Given the description of an element on the screen output the (x, y) to click on. 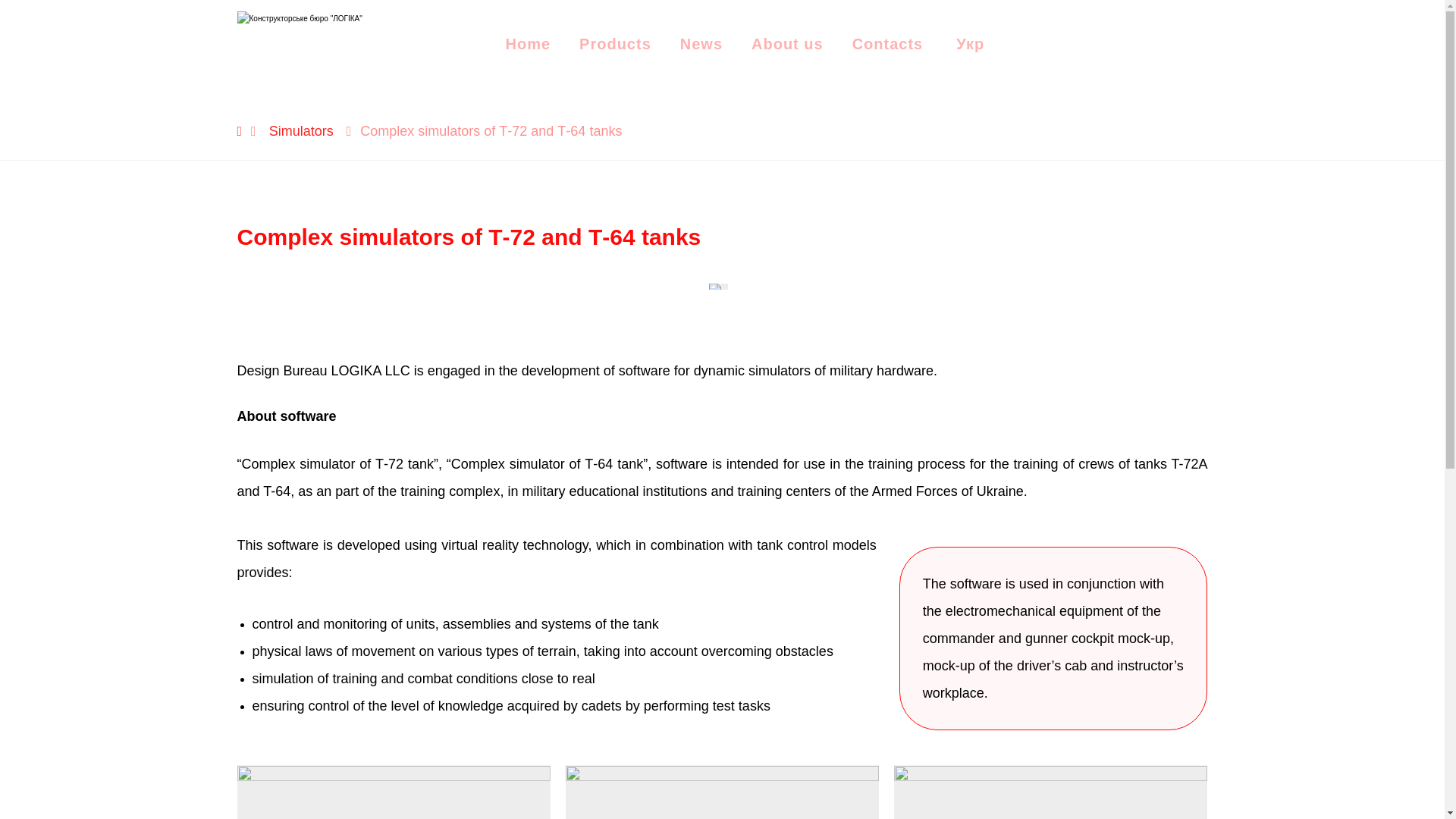
Simulators (300, 130)
1 (718, 286)
News (701, 43)
Home (527, 43)
Products (614, 43)
About us (787, 43)
Contacts (887, 43)
